Given the description of an element on the screen output the (x, y) to click on. 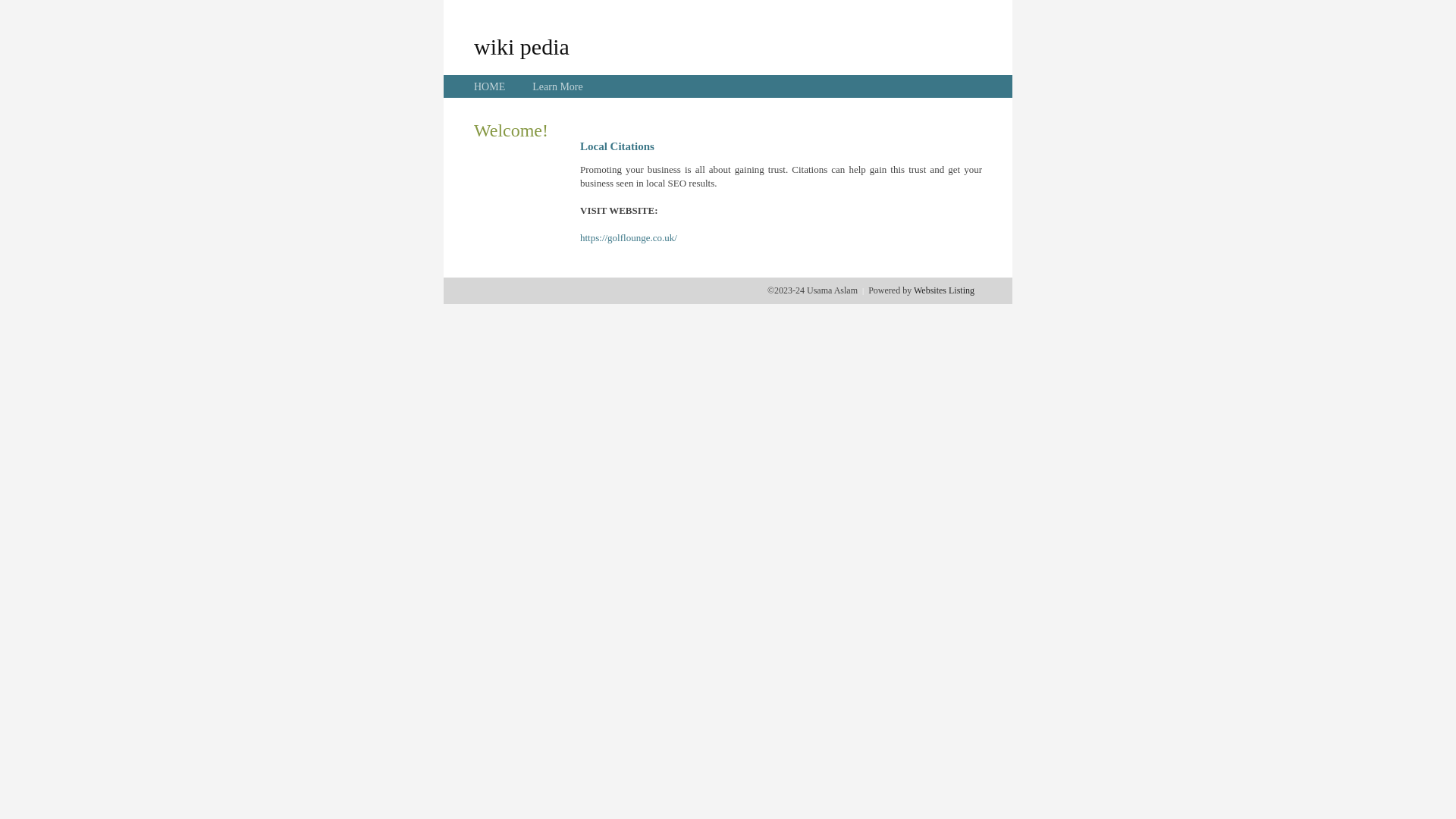
Websites Listing Element type: text (943, 290)
HOME Element type: text (489, 86)
https://golflounge.co.uk/ Element type: text (628, 237)
Learn More Element type: text (557, 86)
wiki pedia Element type: text (521, 46)
